Given the description of an element on the screen output the (x, y) to click on. 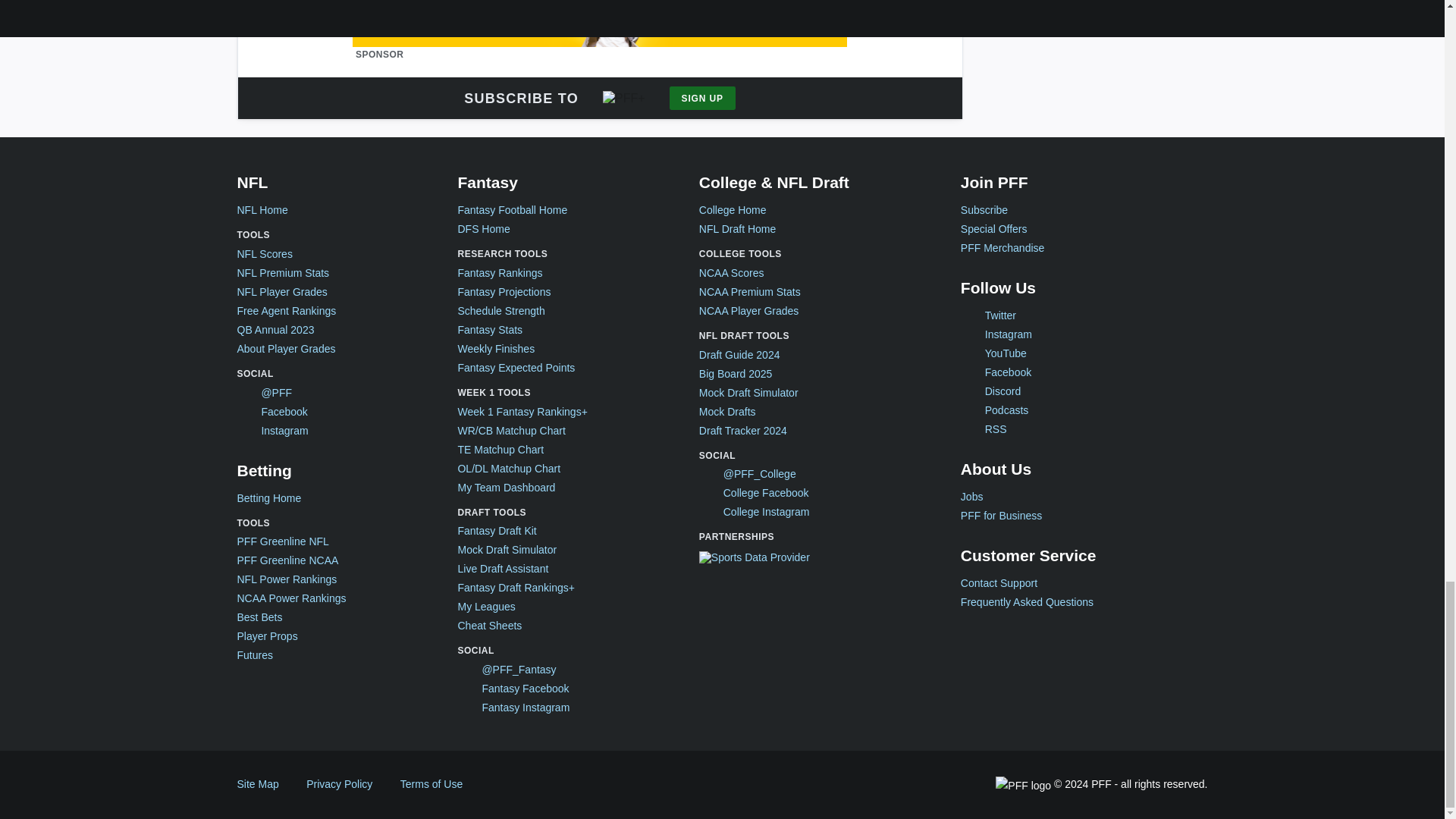
NFL Home (260, 210)
NFL Player Grades (280, 291)
NFL Scores (263, 254)
QB Annual 2023 (274, 329)
SIGN UP (702, 97)
About Player Grades (284, 349)
Free Agent Rankings (285, 310)
NFL Premium Stats (282, 273)
